Given the description of an element on the screen output the (x, y) to click on. 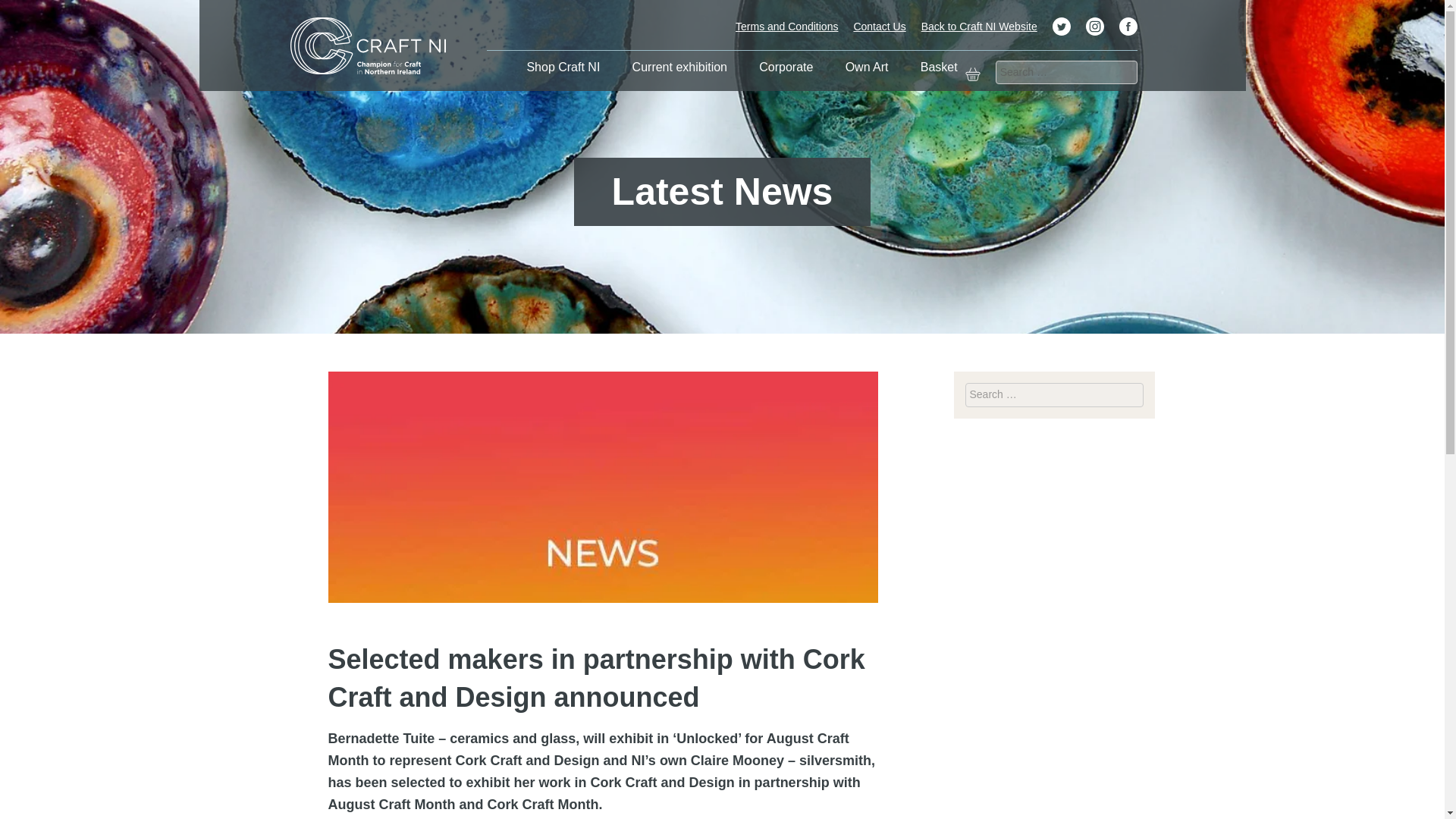
Terms and Conditions (786, 26)
Search for: (1066, 72)
Back to Craft NI Website (978, 26)
Search for: (1052, 395)
Contact Us (879, 26)
Current exhibition (678, 66)
Shop Craft NI (562, 66)
Go (1152, 385)
Own Art (866, 66)
Basket (939, 66)
Corporate (785, 66)
Go (10, 3)
